Given the description of an element on the screen output the (x, y) to click on. 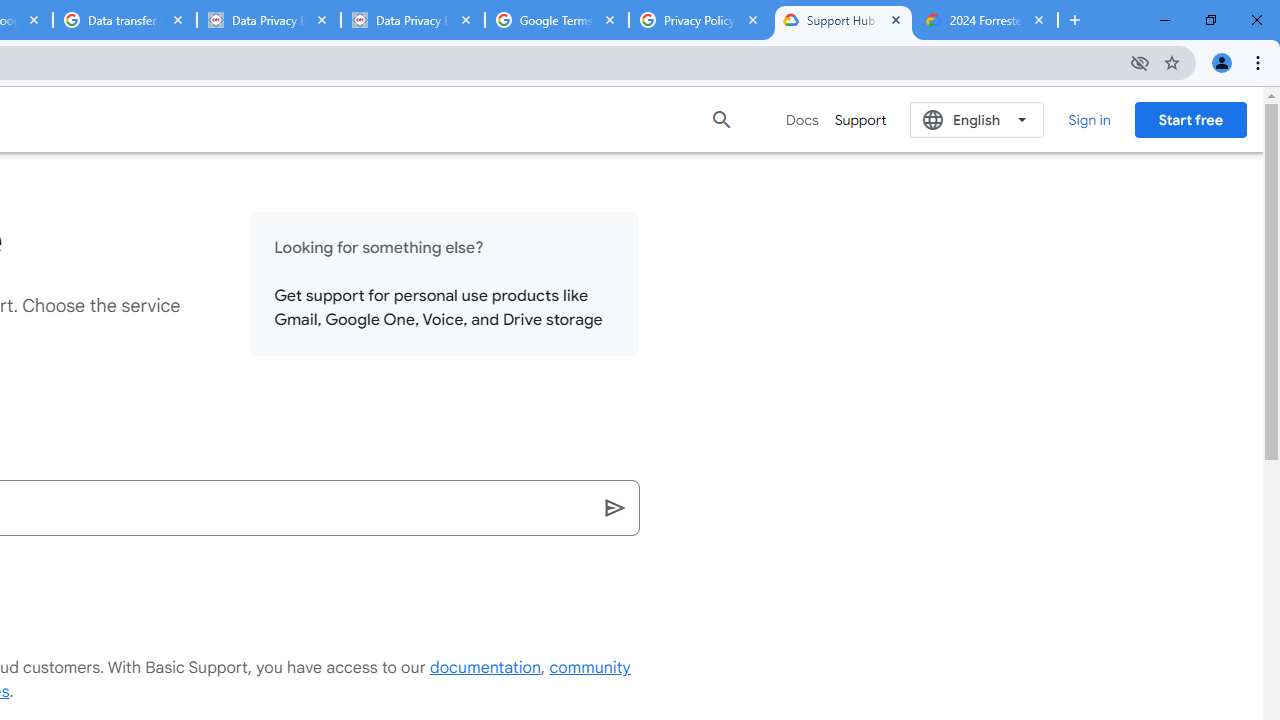
Docs (802, 119)
Start free (1190, 119)
Support Hub | Google Cloud (843, 20)
documentation (485, 668)
